Given the description of an element on the screen output the (x, y) to click on. 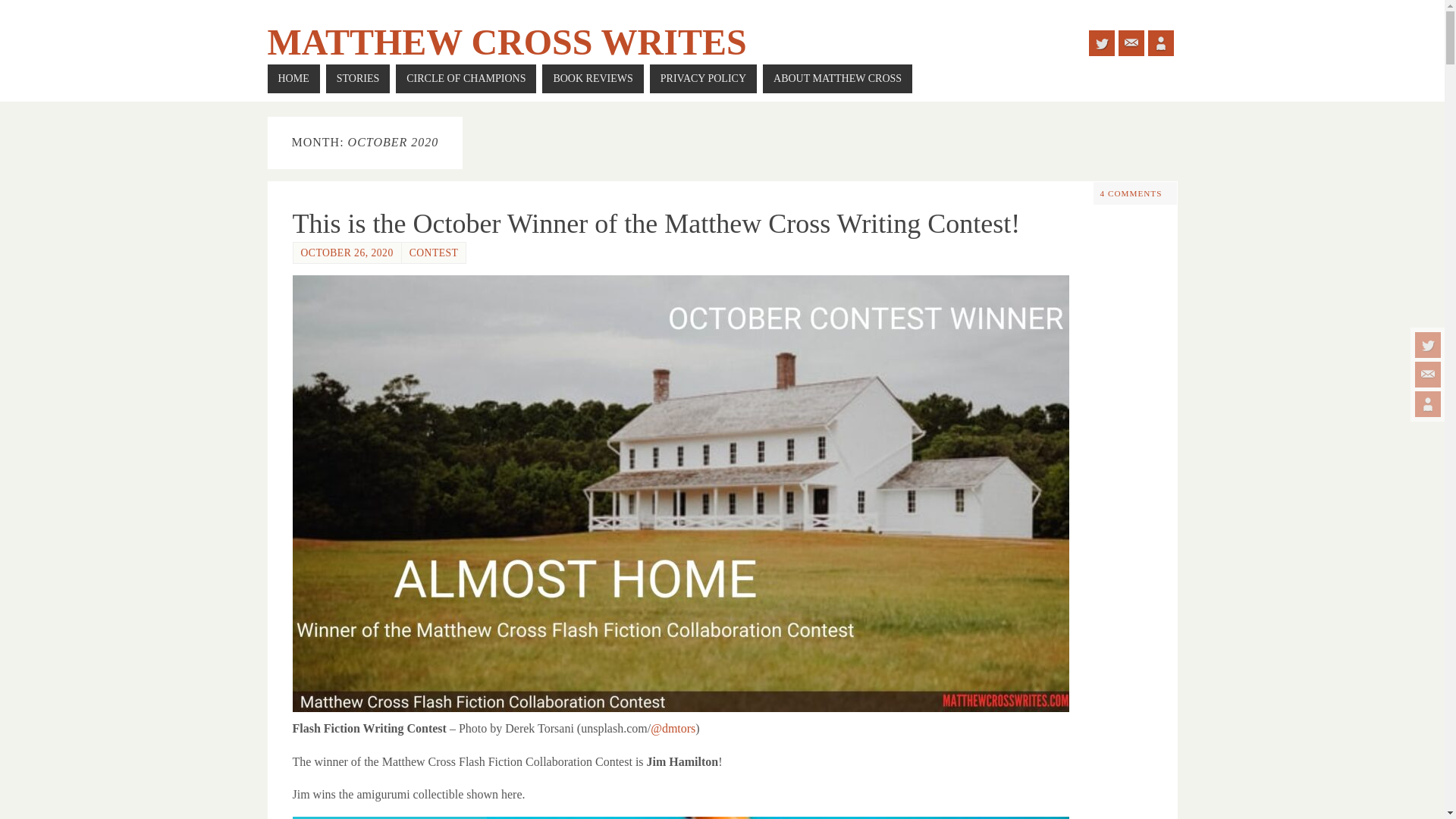
About (1428, 403)
ABOUT MATTHEW CROSS (837, 78)
STORIES (358, 78)
CIRCLE OF CHAMPIONS (465, 78)
HOME (292, 78)
OCTOBER 26, 2020 (346, 252)
Matthew Cross Writes (505, 42)
Twitter (1102, 43)
About (1160, 43)
Email (1130, 43)
